Given the description of an element on the screen output the (x, y) to click on. 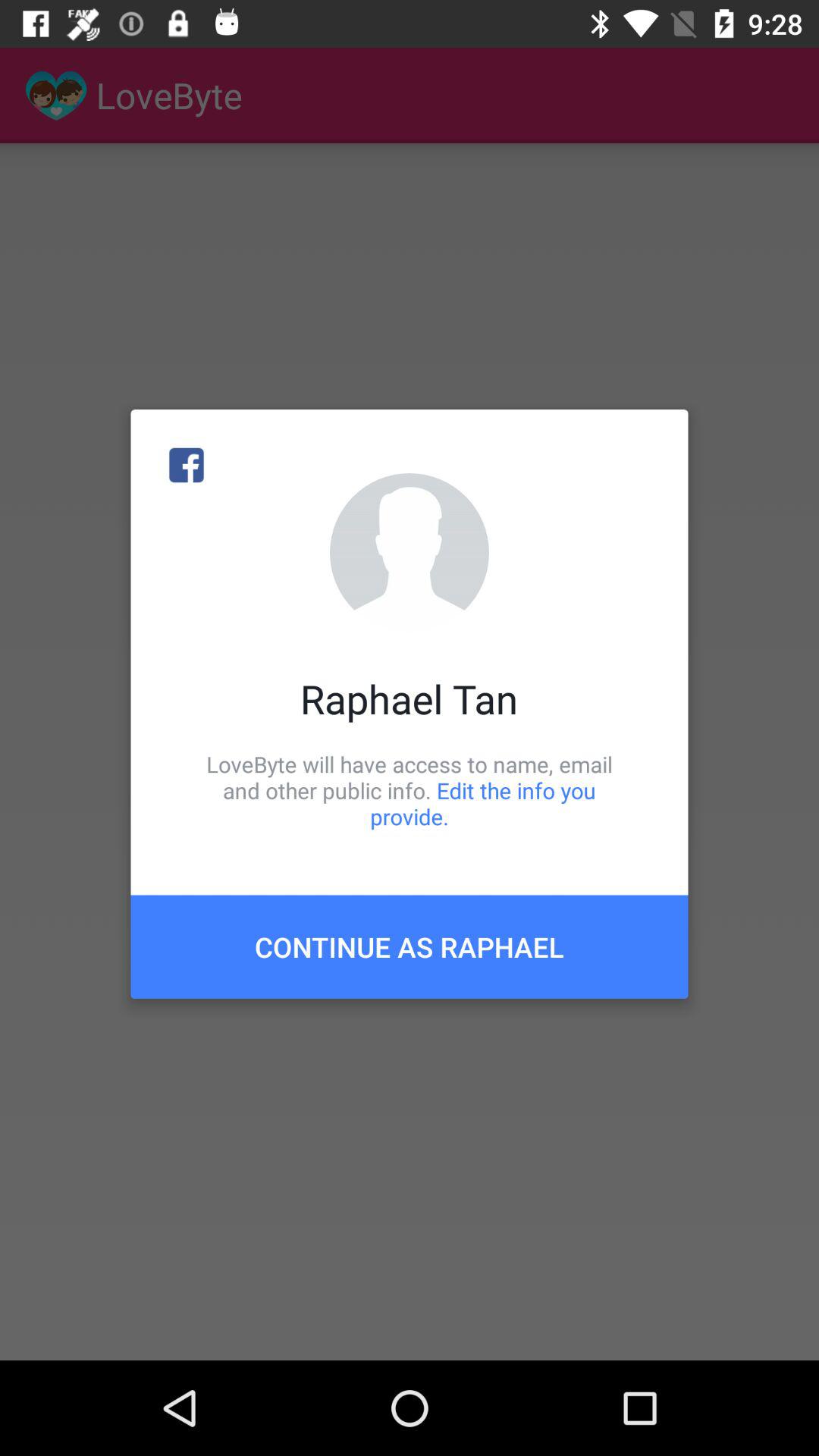
click item below the lovebyte will have (409, 946)
